Given the description of an element on the screen output the (x, y) to click on. 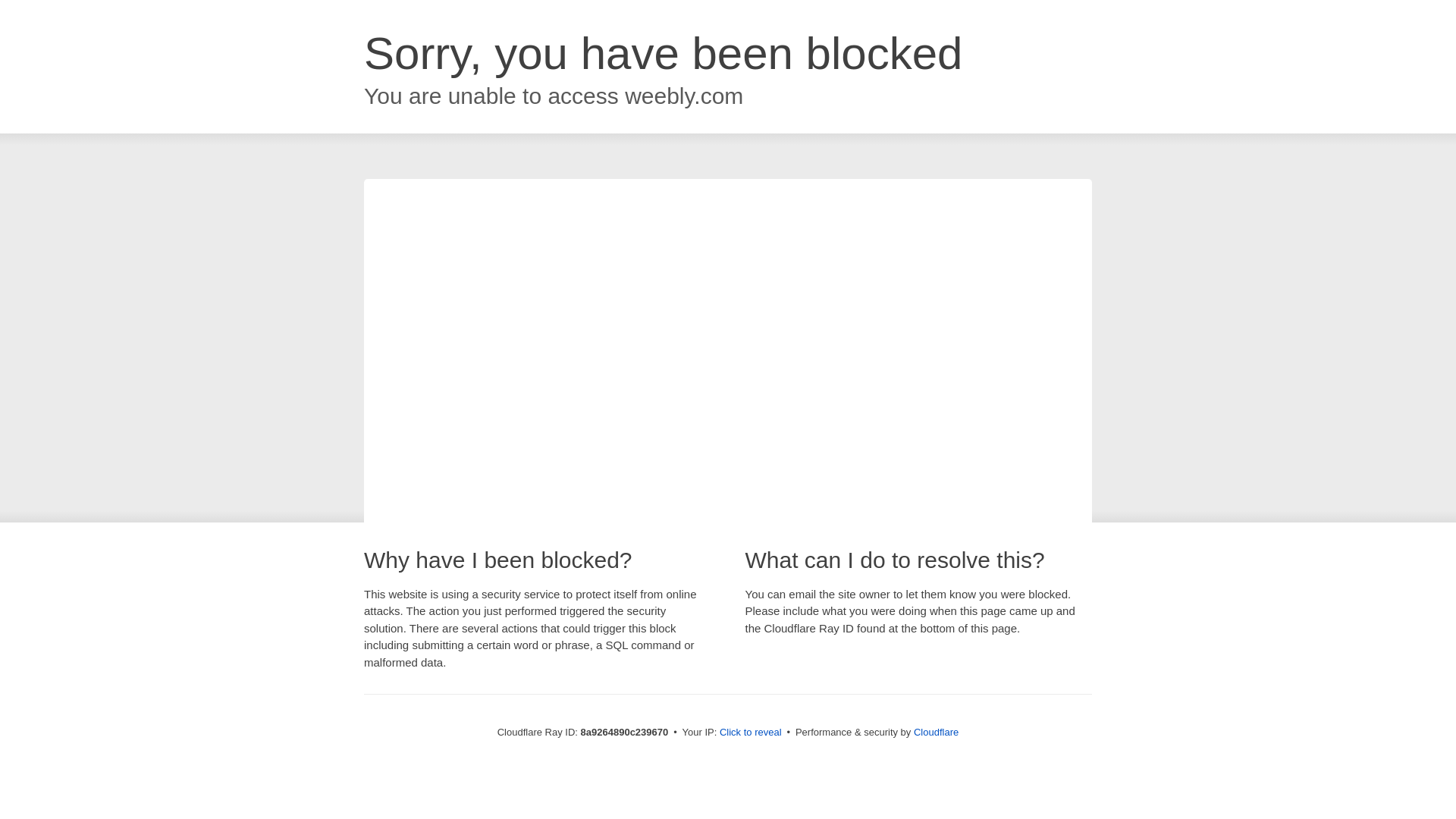
Cloudflare (936, 731)
Click to reveal (750, 732)
